Given the description of an element on the screen output the (x, y) to click on. 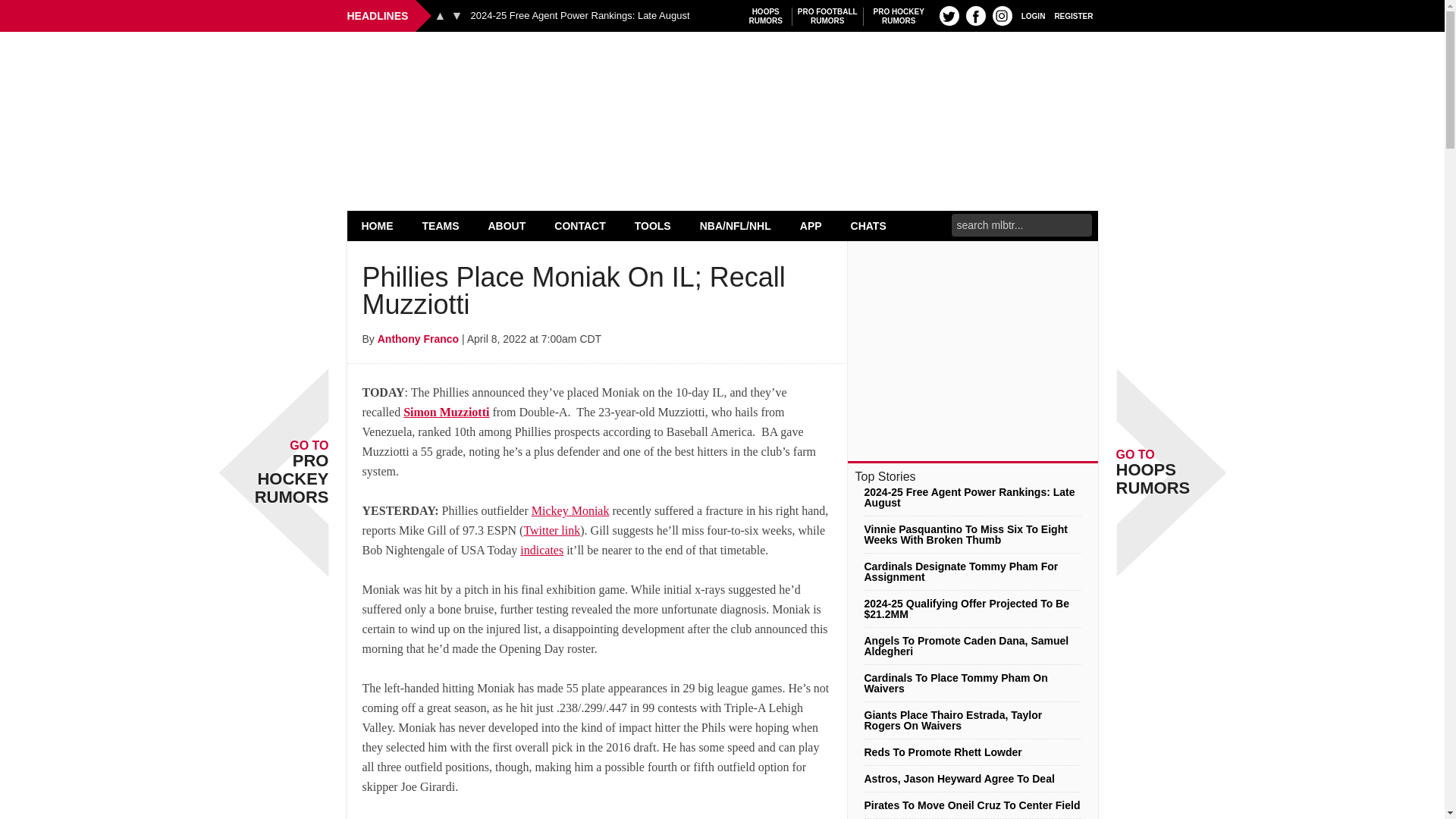
Twitter profile (949, 15)
REGISTER (1073, 15)
Previous (439, 15)
LOGIN (898, 16)
2024-25 Free Agent Power Rankings: Late August (1032, 15)
Next (579, 15)
FB profile (456, 15)
TEAMS (975, 15)
